Given the description of an element on the screen output the (x, y) to click on. 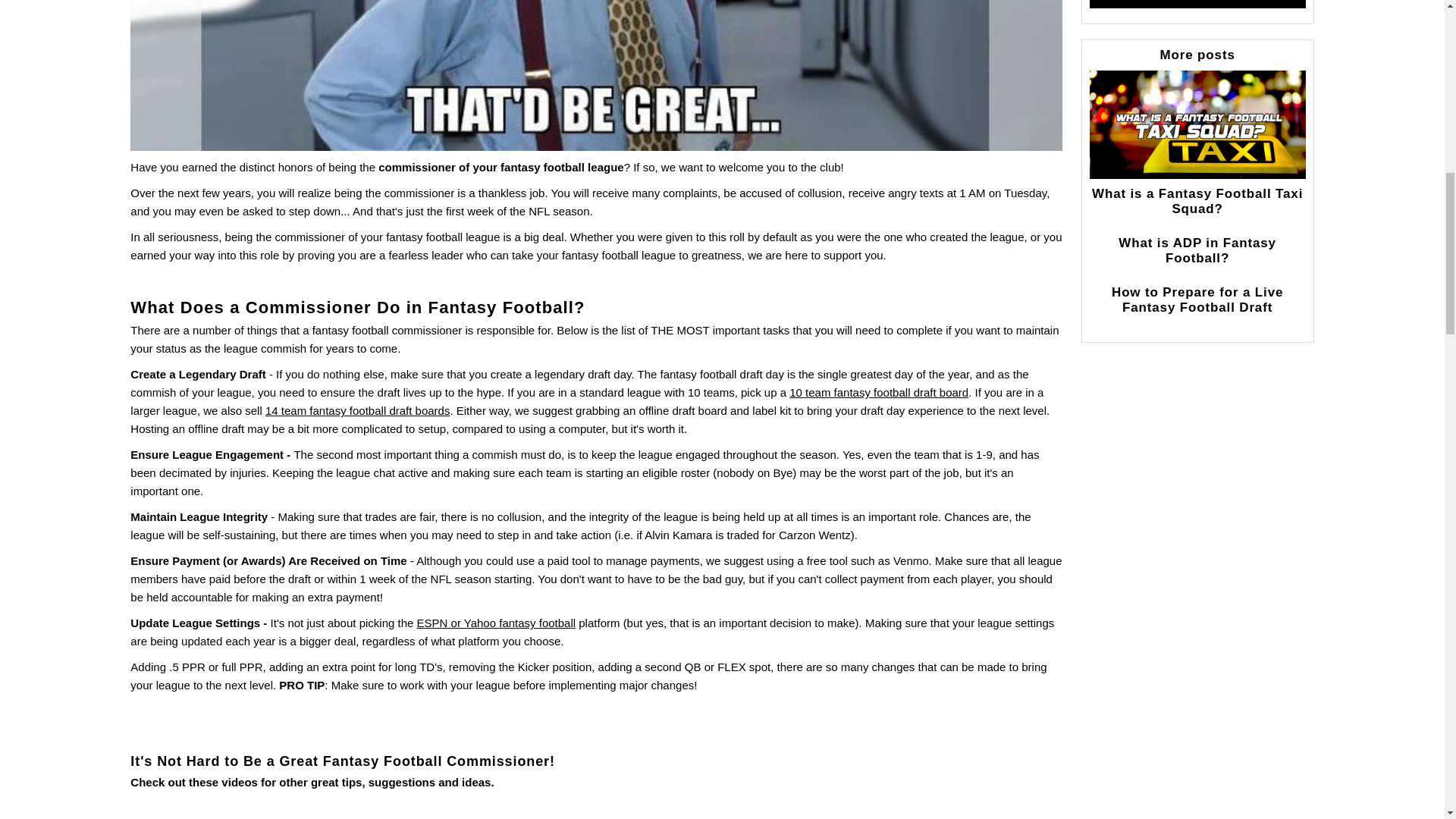
Join (1197, 4)
10 team fantasy football draft board (878, 391)
